Given the description of an element on the screen output the (x, y) to click on. 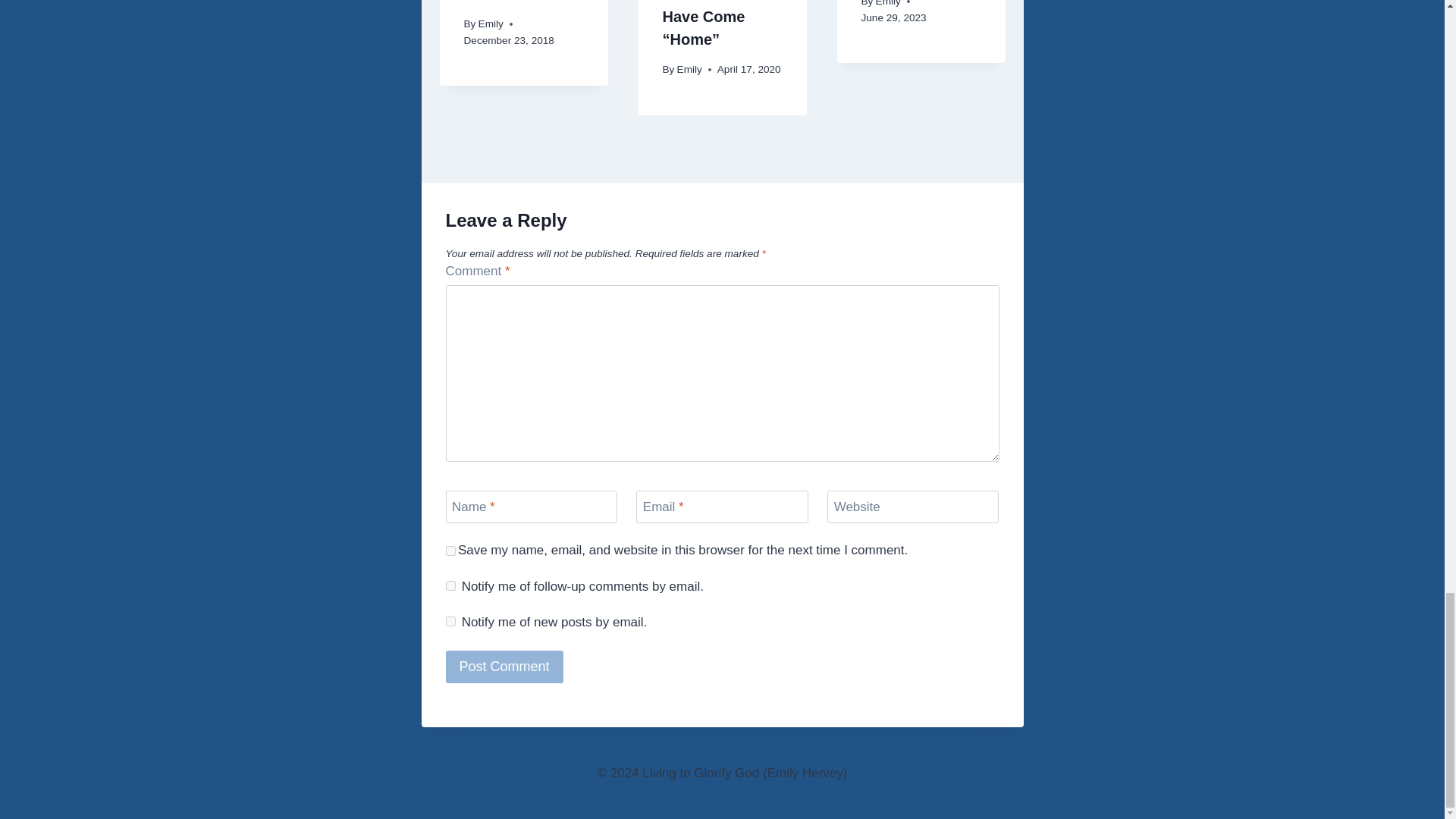
yes (450, 551)
subscribe (450, 585)
subscribe (450, 621)
Post Comment (504, 666)
